Given the description of an element on the screen output the (x, y) to click on. 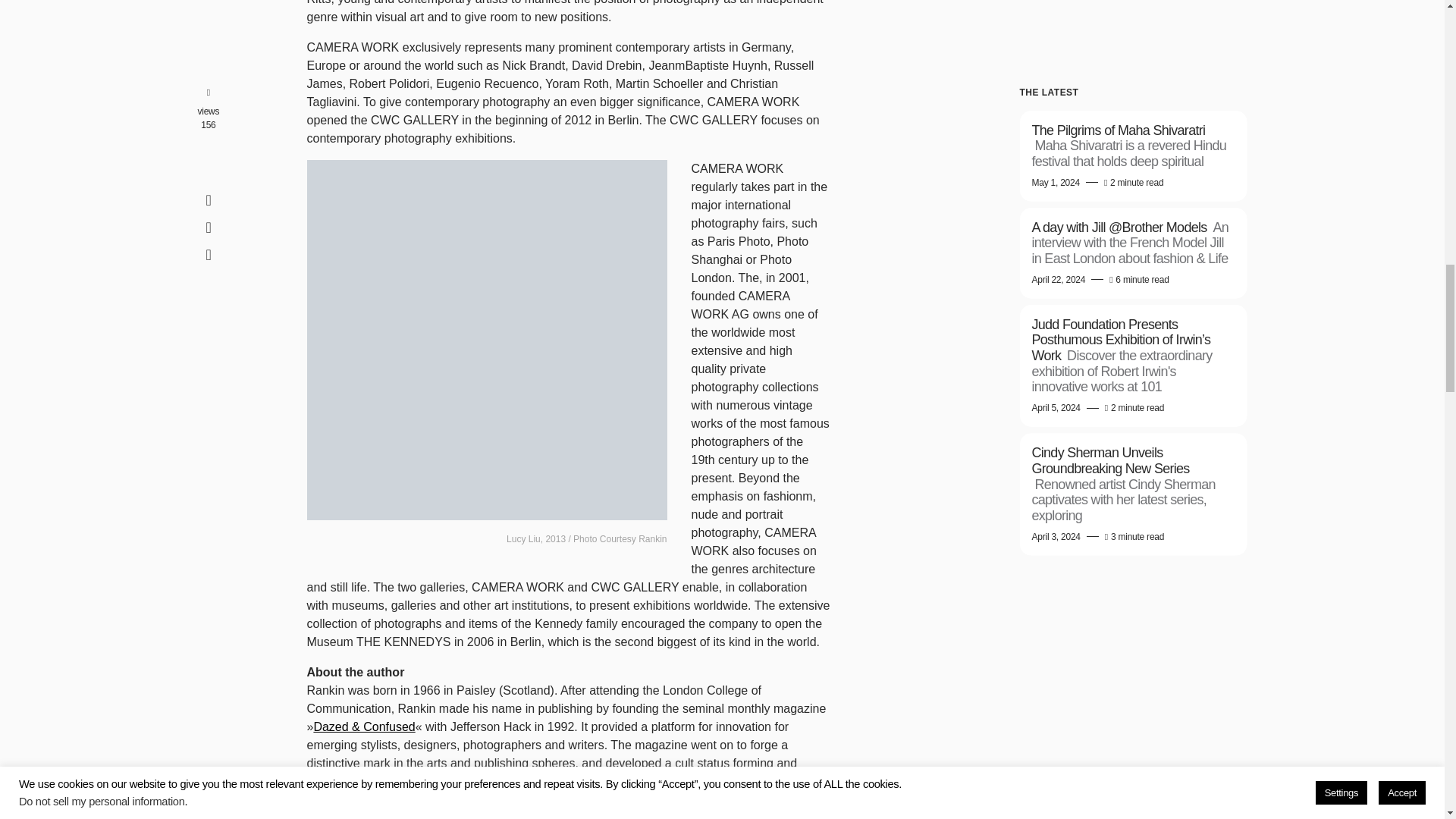
Page 2 (567, 741)
